Given the description of an element on the screen output the (x, y) to click on. 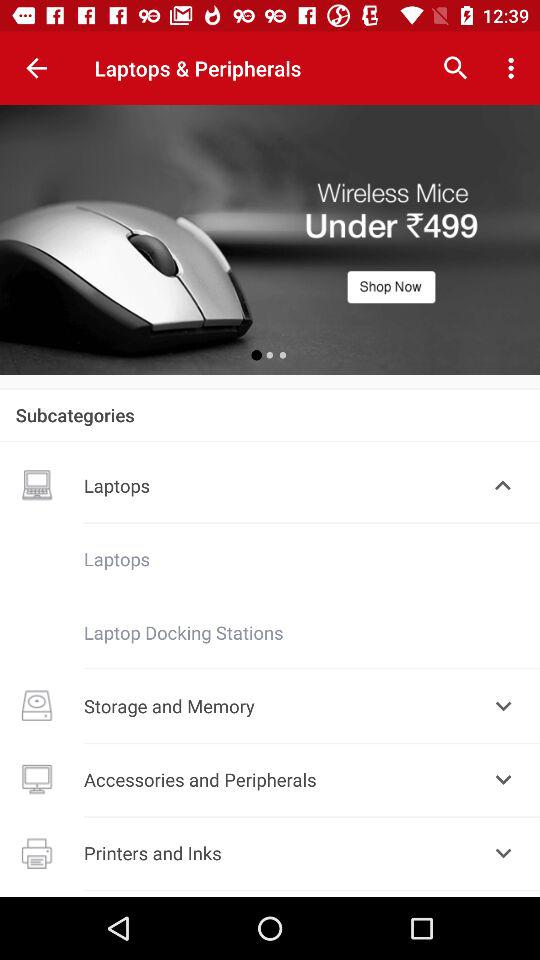
click the icon next to laptops & peripherals icon (36, 68)
